Given the description of an element on the screen output the (x, y) to click on. 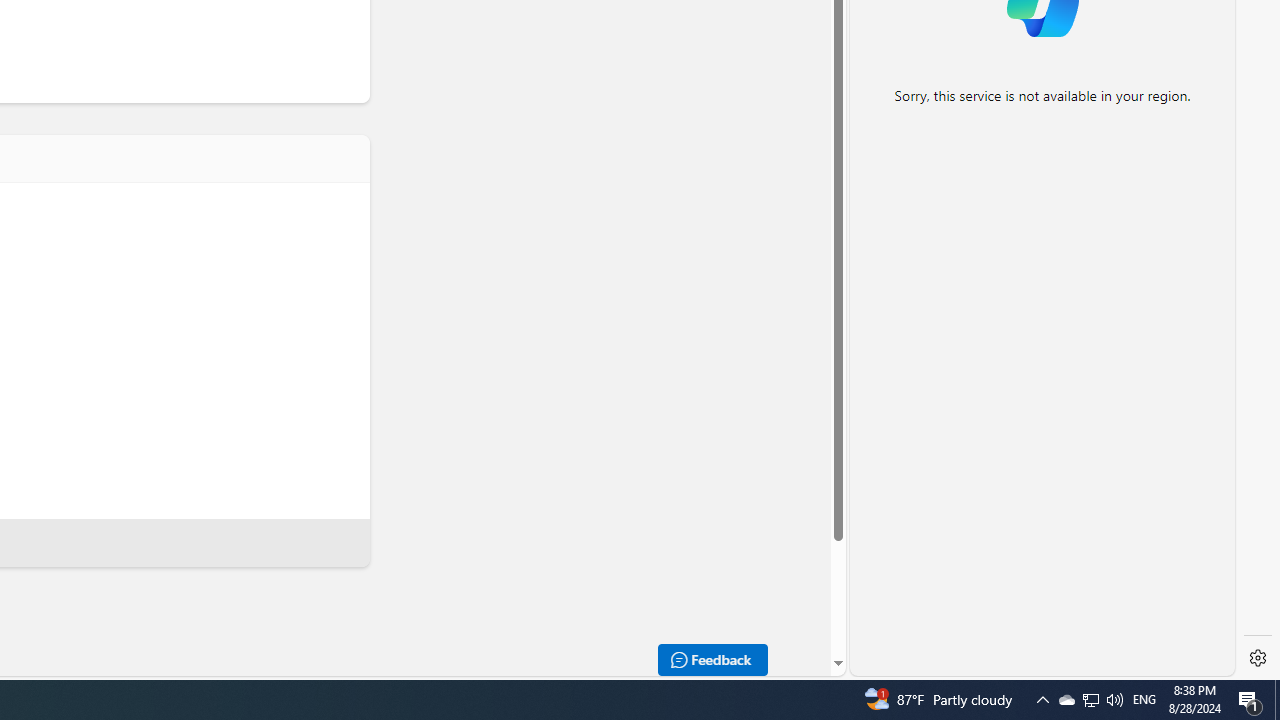
Settings (1258, 658)
